Given the description of an element on the screen output the (x, y) to click on. 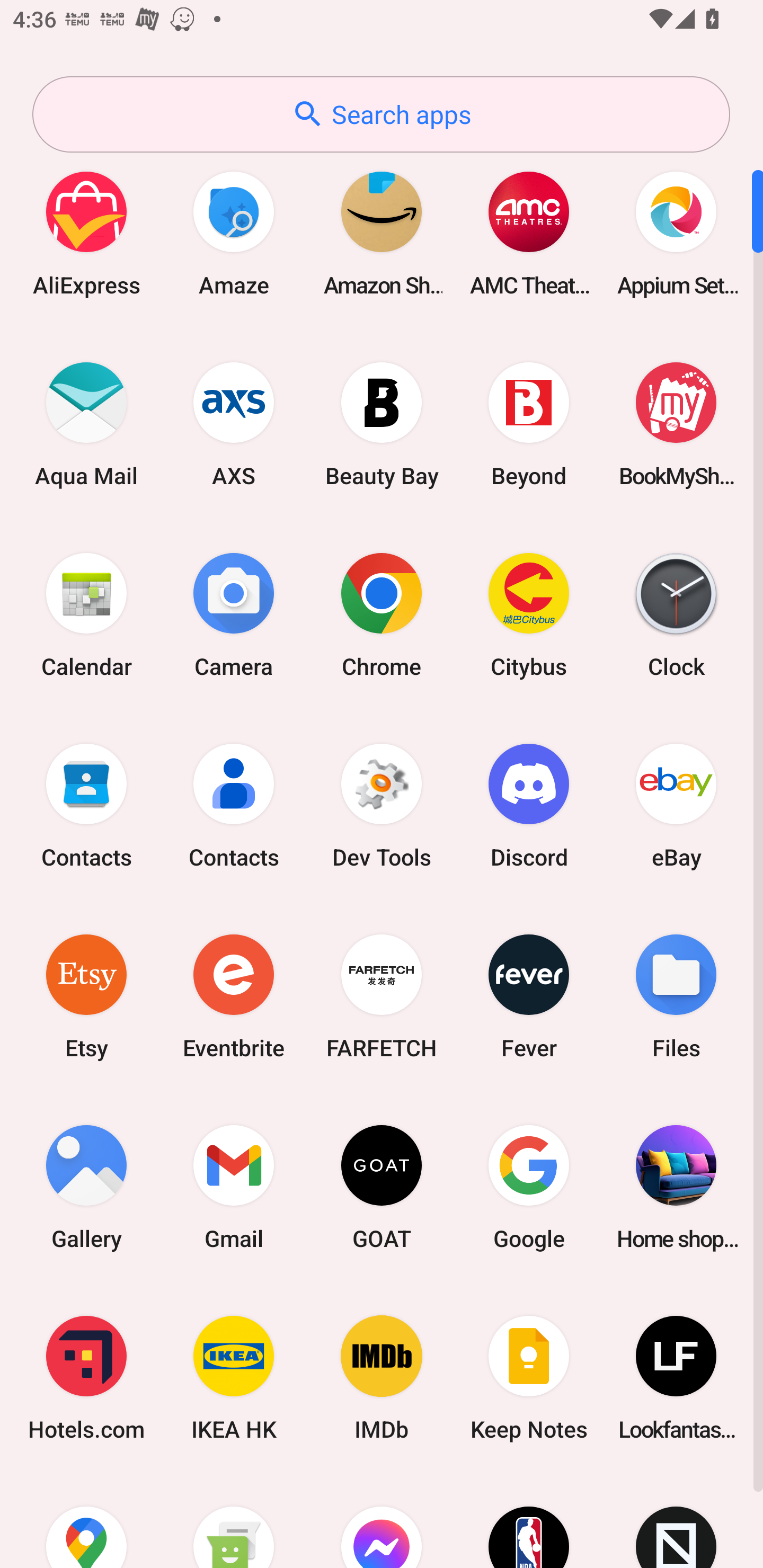
  Search apps (381, 114)
AliExpress (86, 233)
Amaze (233, 233)
Amazon Shopping (381, 233)
AMC Theatres (528, 233)
Appium Settings (676, 233)
Aqua Mail (86, 424)
AXS (233, 424)
Beauty Bay (381, 424)
Beyond (528, 424)
BookMyShow (676, 424)
Calendar (86, 614)
Camera (233, 614)
Chrome (381, 614)
Citybus (528, 614)
Clock (676, 614)
Contacts (86, 805)
Contacts (233, 805)
Dev Tools (381, 805)
Discord (528, 805)
eBay (676, 805)
Etsy (86, 996)
Eventbrite (233, 996)
FARFETCH (381, 996)
Fever (528, 996)
Files (676, 996)
Gallery (86, 1186)
Gmail (233, 1186)
GOAT (381, 1186)
Google (528, 1186)
Home shopping (676, 1186)
Hotels.com (86, 1377)
IKEA HK (233, 1377)
IMDb (381, 1377)
Keep Notes (528, 1377)
Lookfantastic (676, 1377)
Maps (86, 1520)
Messaging (233, 1520)
Messenger (381, 1520)
NBA (528, 1520)
Novelship (676, 1520)
